Given the description of an element on the screen output the (x, y) to click on. 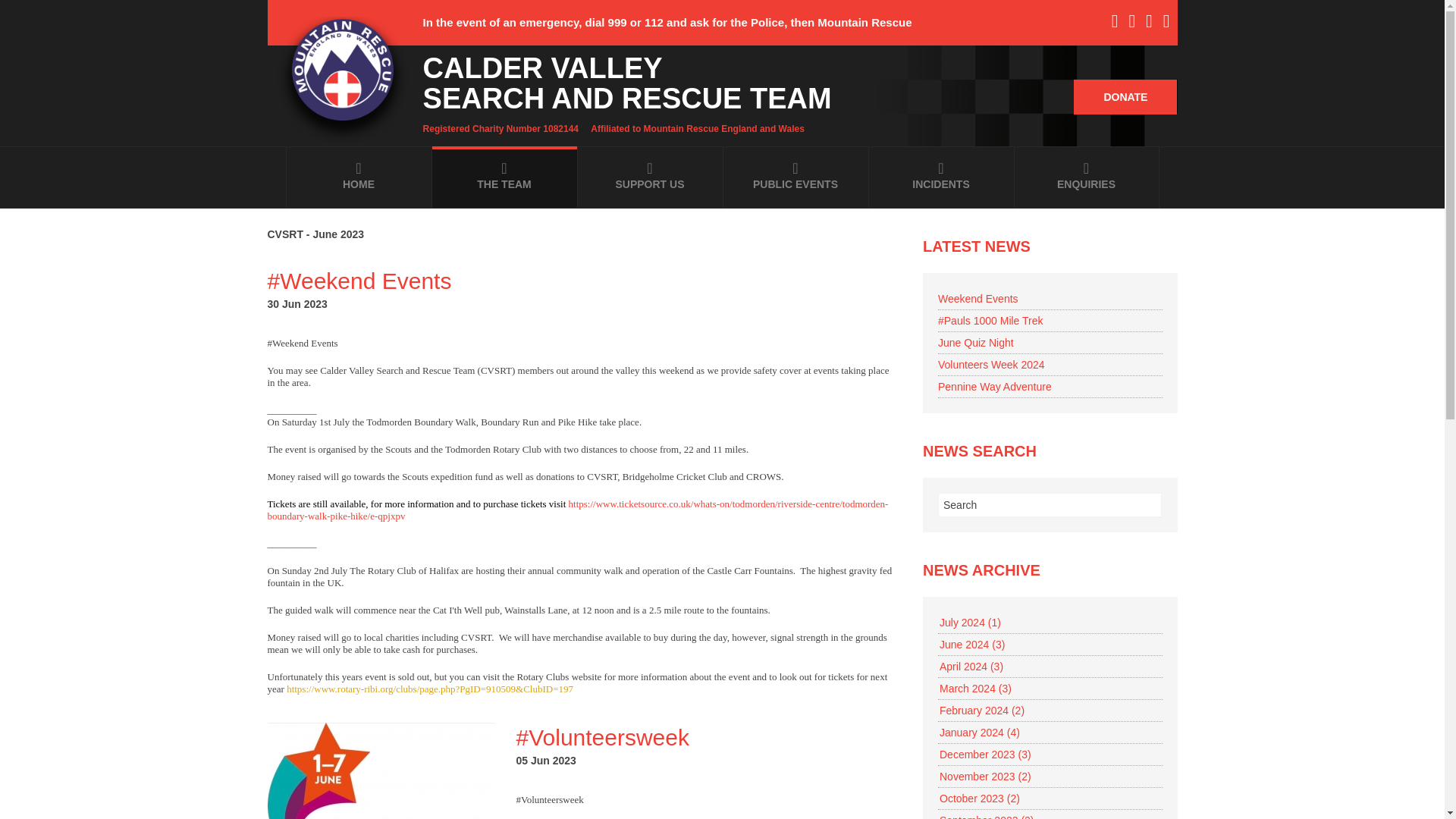
PUBLIC EVENTS (795, 177)
Weekend Events (977, 298)
Volunteers Week 2024 (991, 364)
Subscribe to this RSS feed (883, 250)
THE TEAM (504, 177)
Pennine Way Adventure (994, 386)
INCIDENTS (941, 177)
June Quiz Night (975, 342)
SUPPORT US (650, 177)
HOME (358, 177)
Search (1049, 504)
DONATE (1125, 96)
ENQUIRIES (1086, 177)
